Given the description of an element on the screen output the (x, y) to click on. 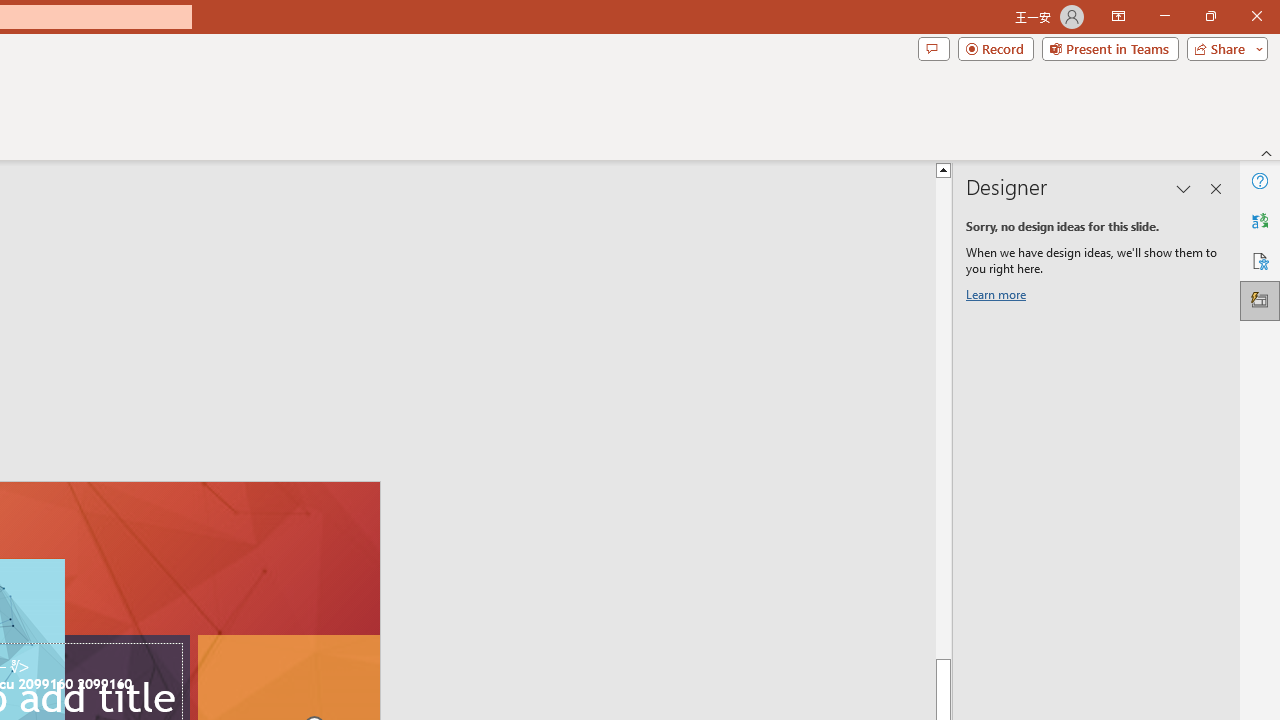
Close (1256, 16)
Page up (1230, 417)
Present in Teams (1109, 48)
Comments (933, 48)
